Given the description of an element on the screen output the (x, y) to click on. 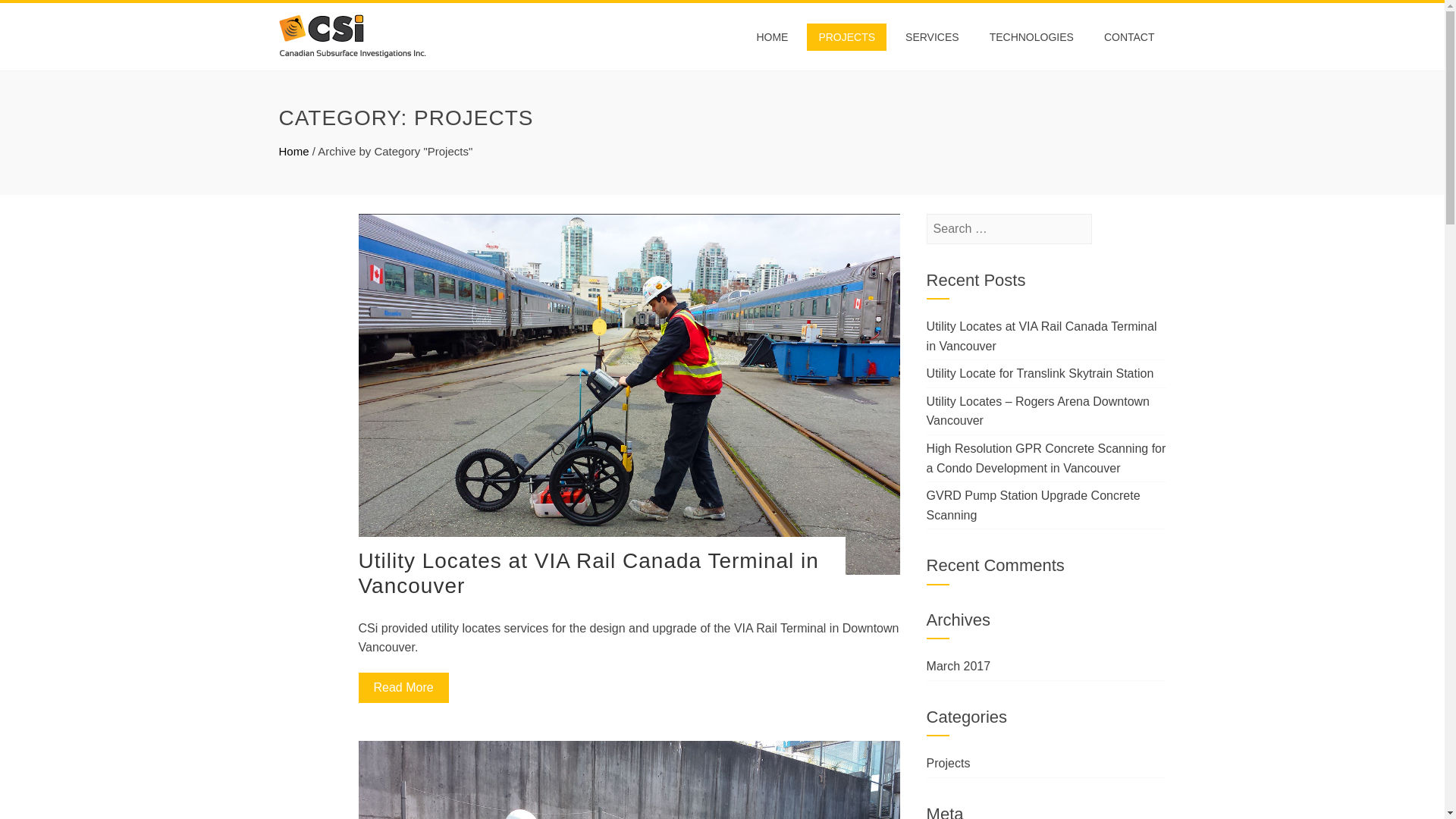
HOME (771, 36)
SERVICES (932, 36)
PROJECTS (846, 36)
Search (34, 15)
Read More (403, 687)
Utility Locate for Translink Skytrain Station (1040, 373)
TECHNOLOGIES (1031, 36)
Utility Locates at VIA Rail Canada Terminal in Vancouver (588, 573)
Utility Locates at VIA Rail Canada Terminal in Vancouver (1041, 336)
CONTACT (1129, 36)
